Given the description of an element on the screen output the (x, y) to click on. 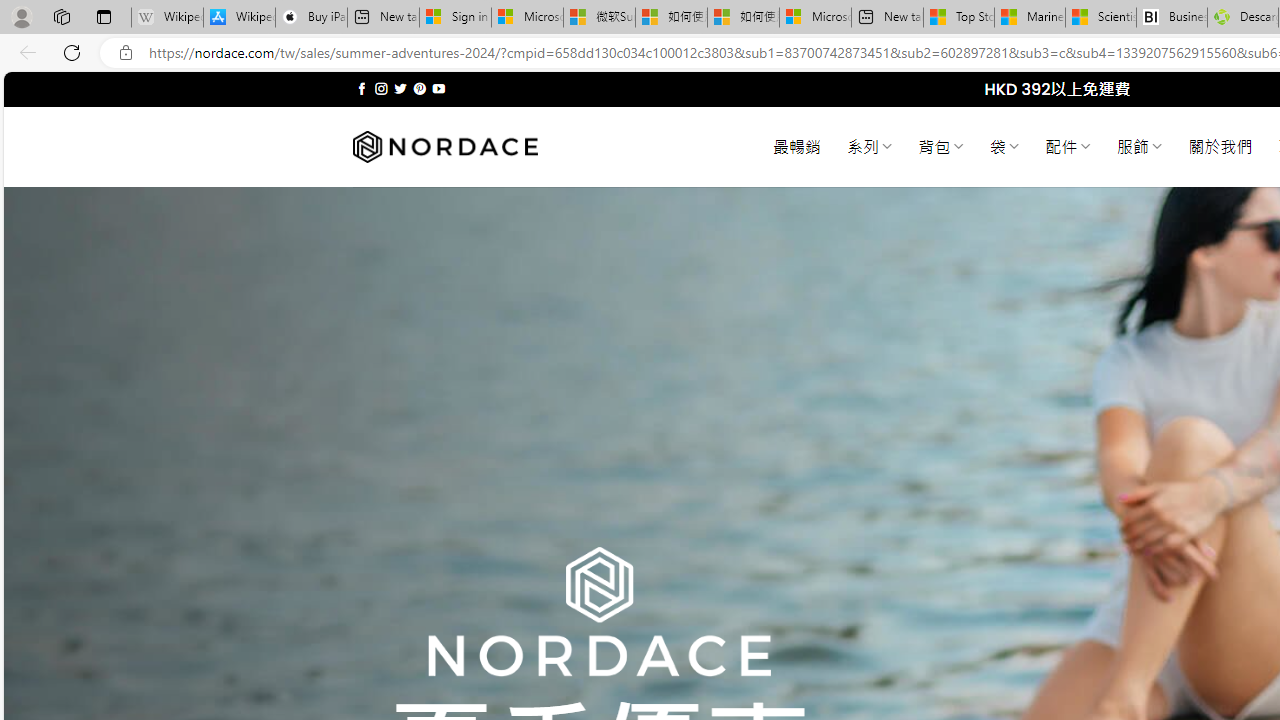
Follow on Instagram (381, 88)
Follow on Twitter (400, 88)
Follow on Pinterest (419, 88)
